Given the description of an element on the screen output the (x, y) to click on. 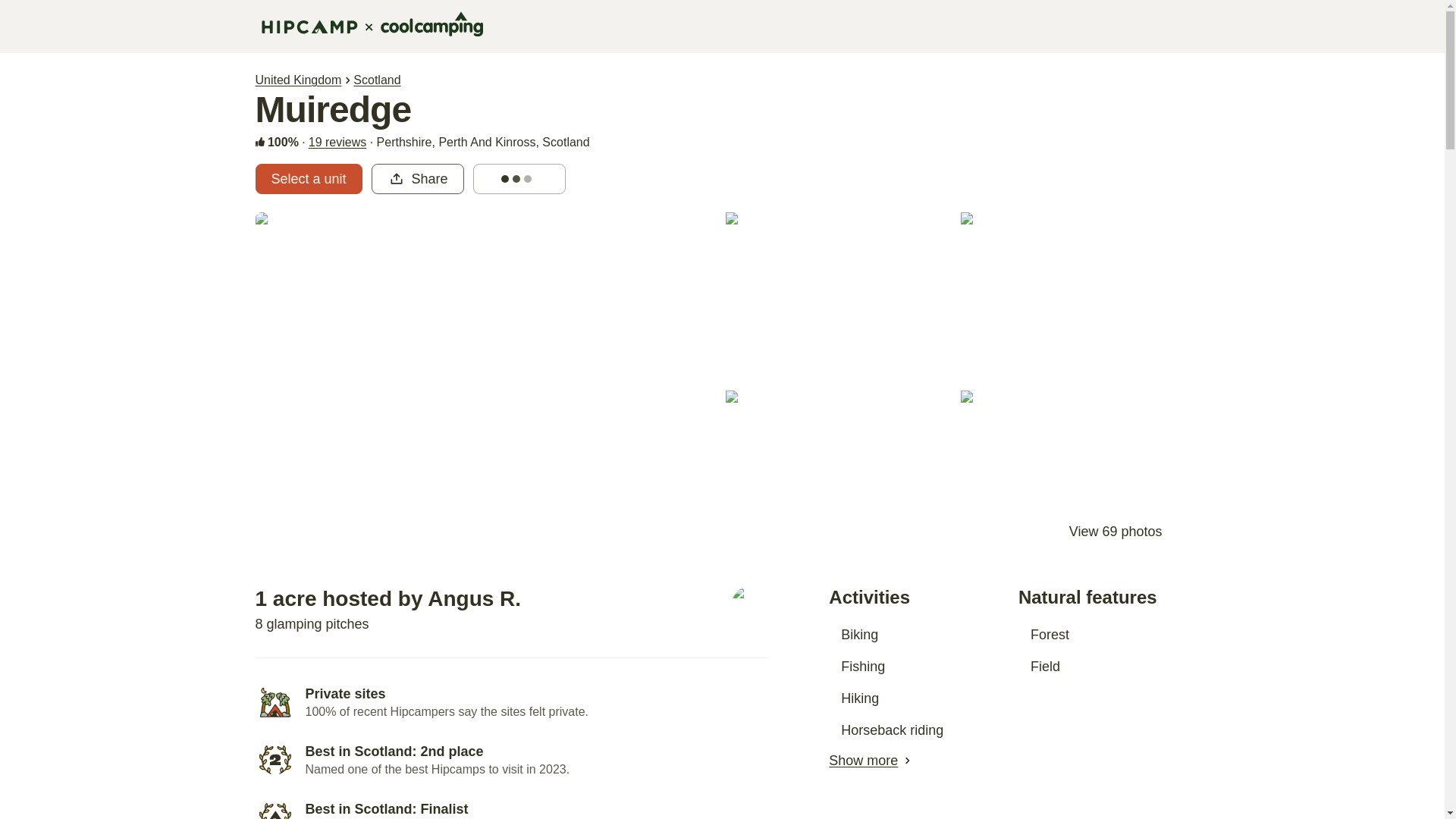
Share (417, 178)
Show more (863, 760)
Scotland (376, 79)
Scotland (376, 80)
Select a unit (307, 178)
United Kingdom (297, 80)
19 reviews (337, 142)
